Given the description of an element on the screen output the (x, y) to click on. 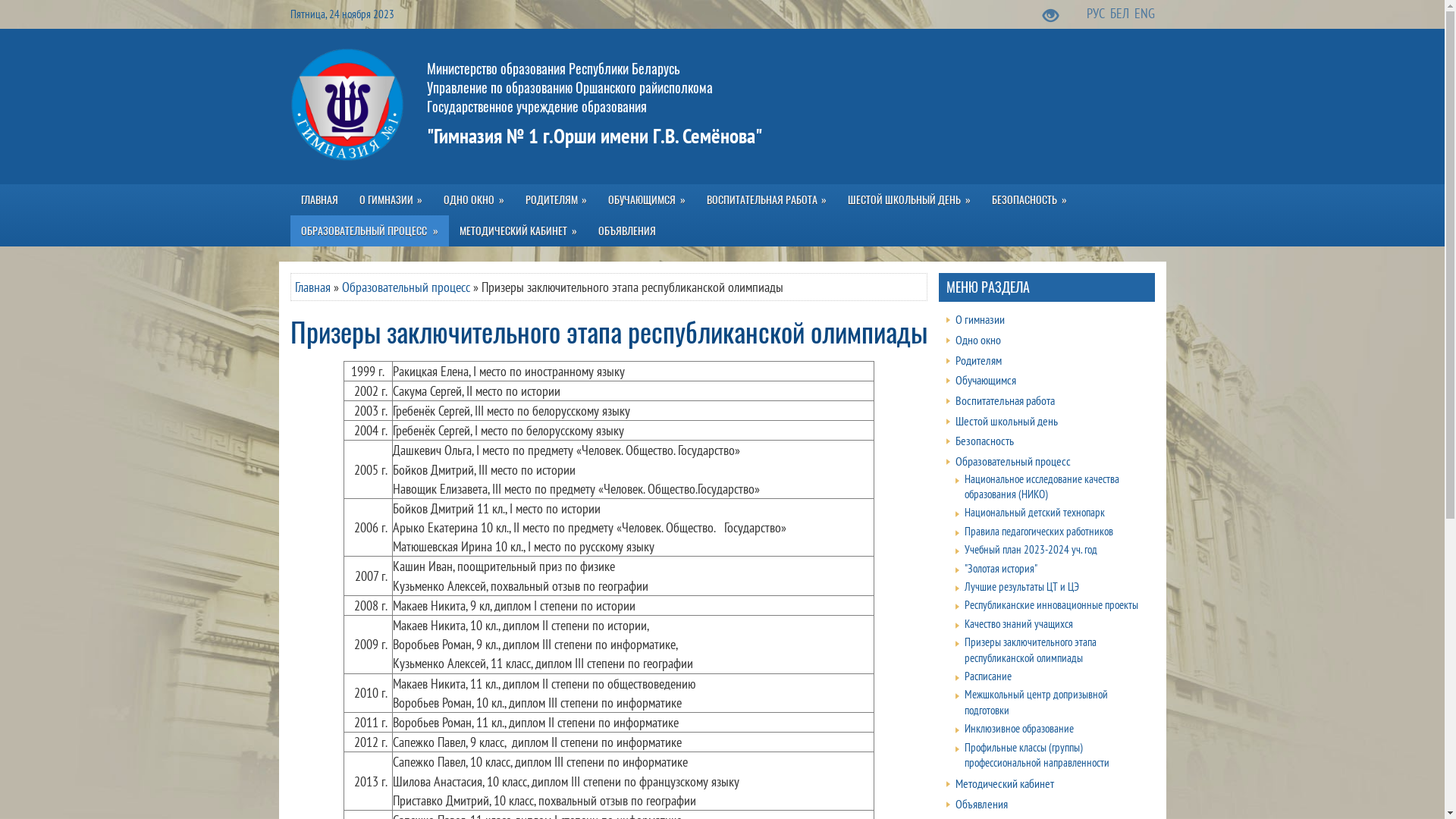
ENG Element type: text (1144, 12)
